Given the description of an element on the screen output the (x, y) to click on. 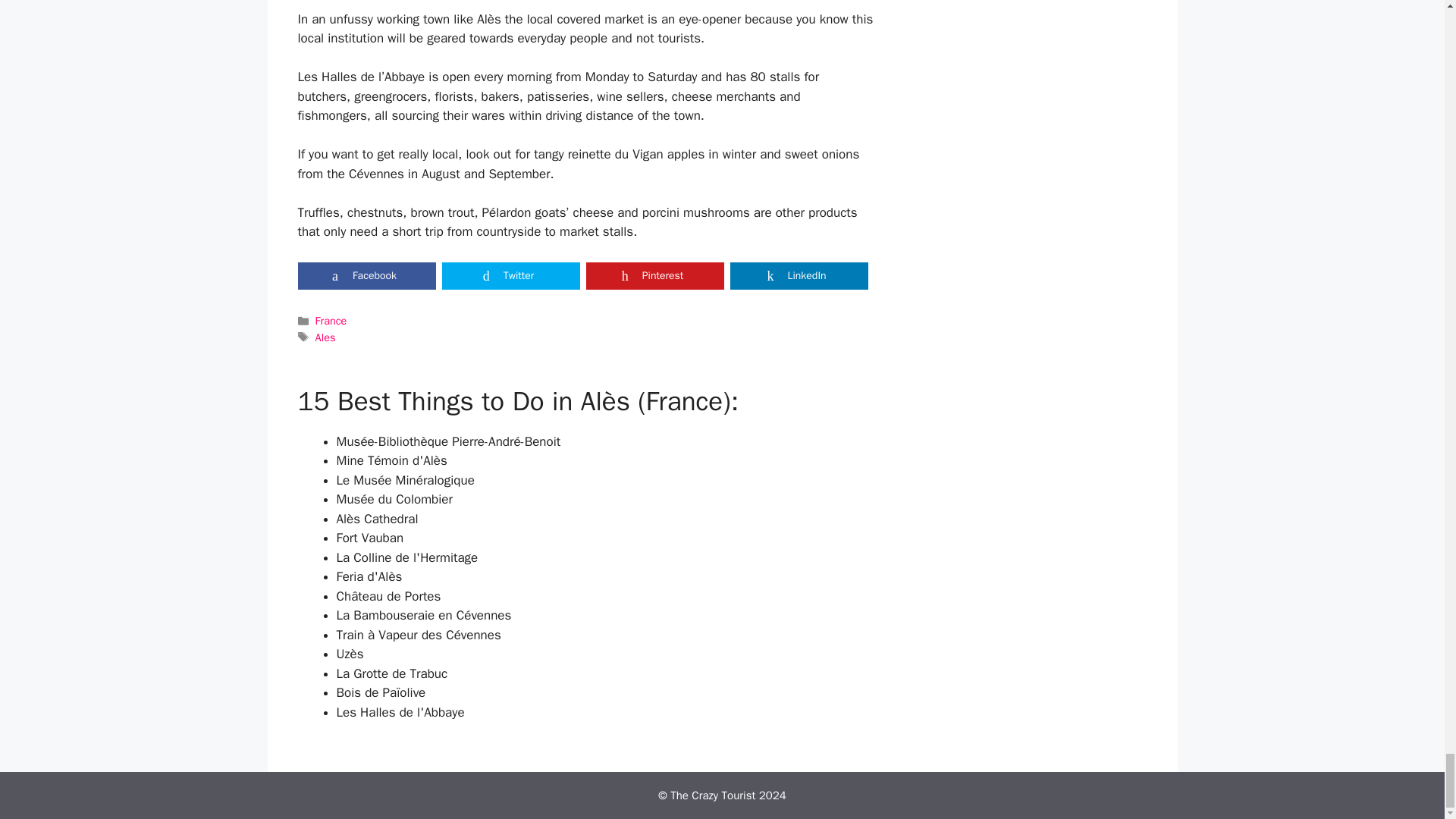
Share on Twitter (510, 275)
Share on Facebook (366, 275)
Share on LinkedIn (798, 275)
Facebook (366, 275)
Twitter (510, 275)
Share on Pinterest (654, 275)
